Given the description of an element on the screen output the (x, y) to click on. 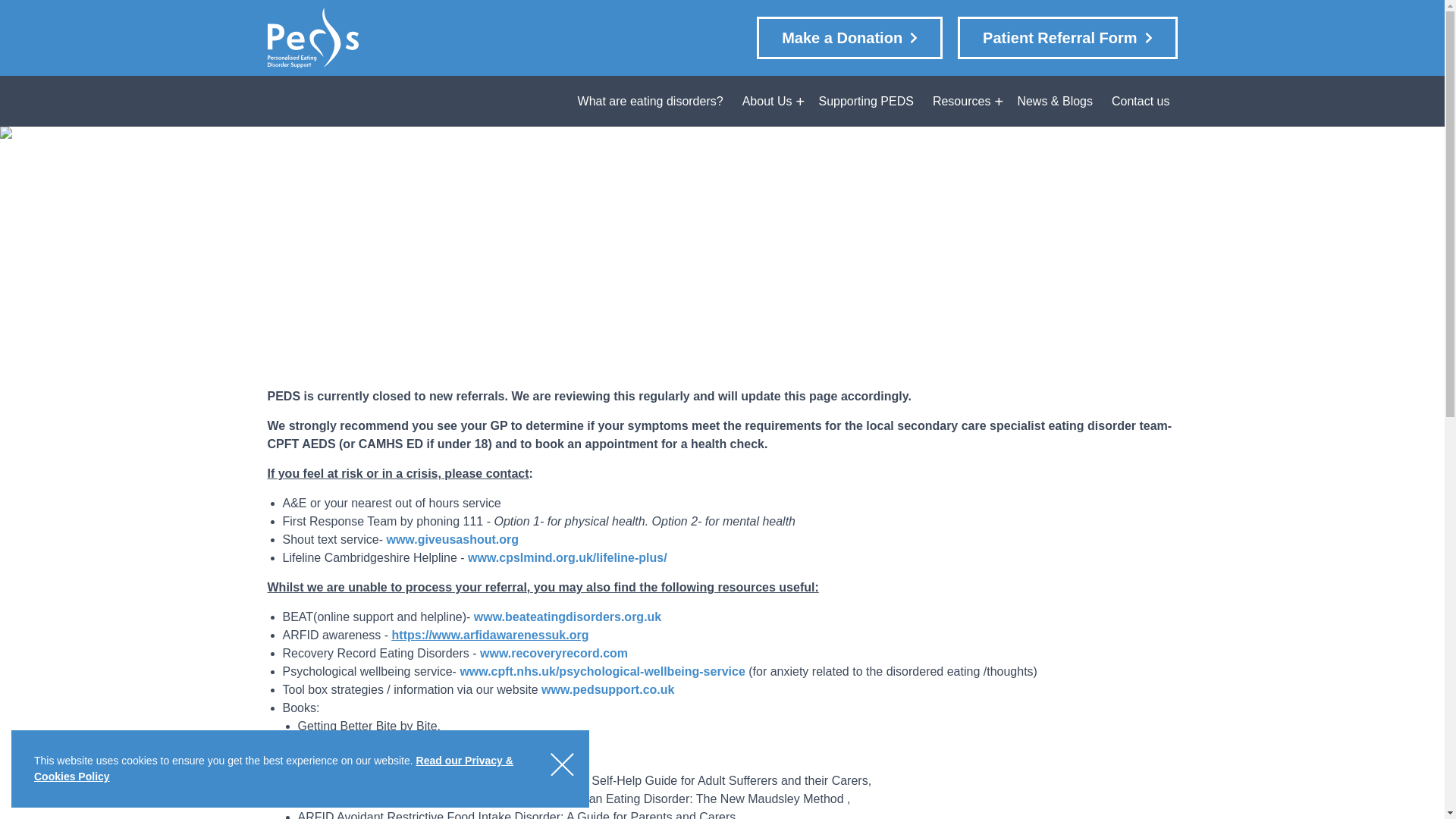
Make a Donation (849, 37)
Contact us (1140, 101)
What are eating disorders? (650, 101)
Supporting PEDS (865, 101)
www.giveusashout.org (451, 539)
www.beateatingdisorders.org.uk (567, 616)
www.recoveryrecord.com (553, 653)
About Us (767, 101)
Resources (961, 101)
www.pedsupport.co.uk (1067, 37)
Patient Referral Form (607, 689)
